Given the description of an element on the screen output the (x, y) to click on. 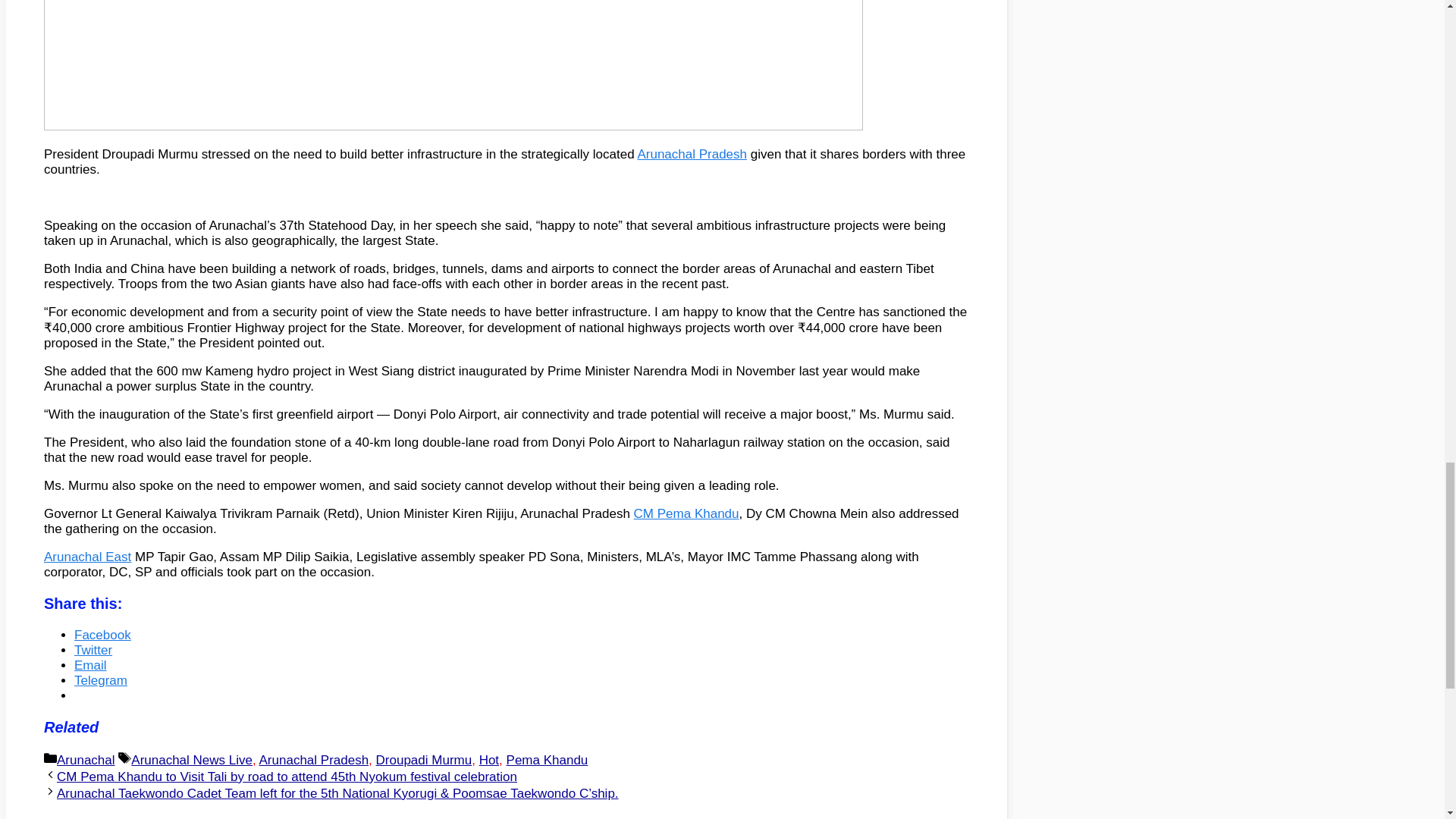
Telegram (101, 680)
Email (90, 665)
CM Pema Khandu (686, 513)
Arunachal News Live (191, 759)
Click to email a link to a friend (90, 665)
Click to share on Telegram (101, 680)
Click to share on Twitter (93, 649)
Pema Khandu (547, 759)
Arunachal Pradesh (314, 759)
